Given the description of an element on the screen output the (x, y) to click on. 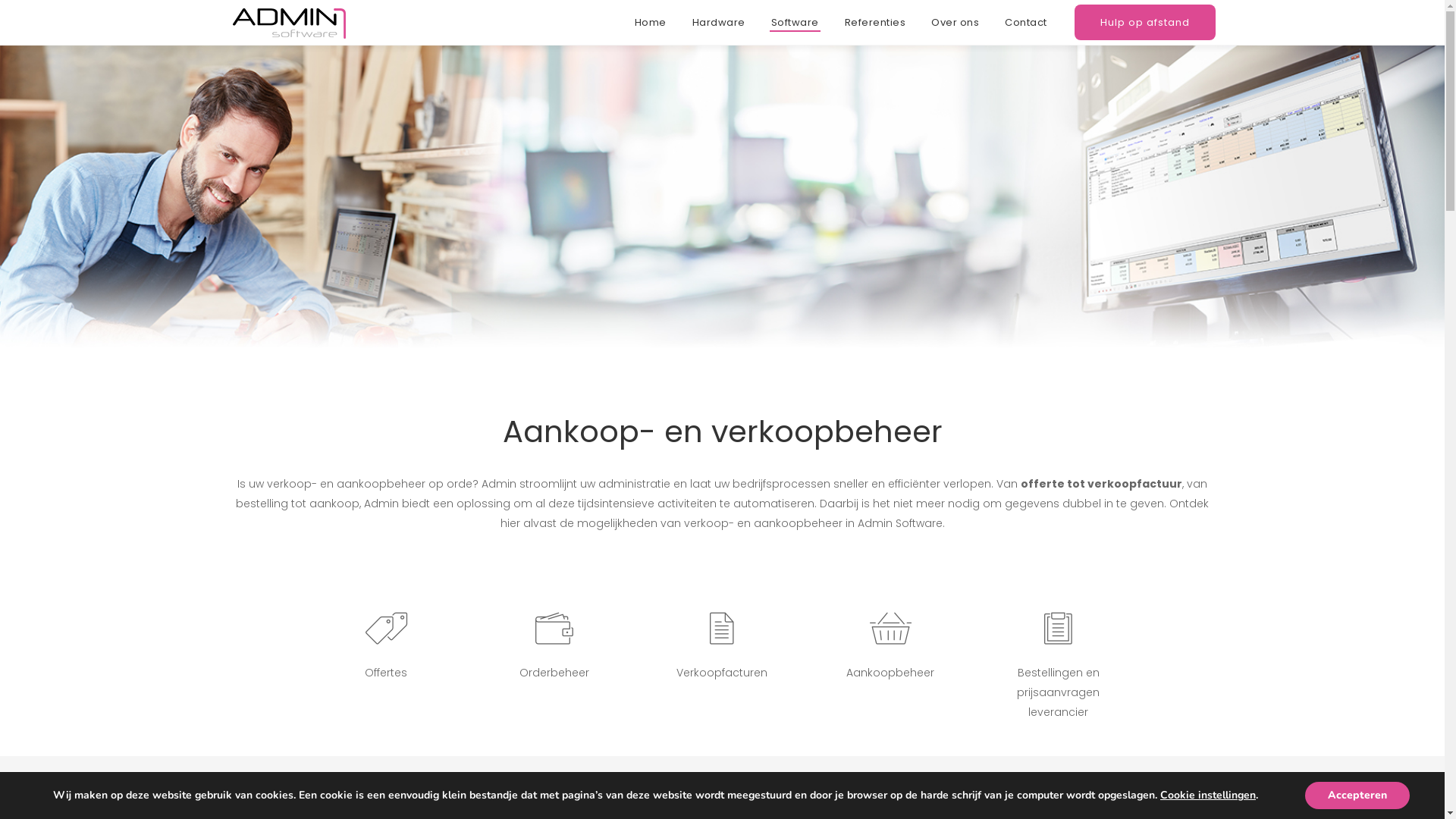
Hulp op afstand Element type: text (1143, 22)
Hardware Element type: text (718, 22)
Over ons Element type: text (954, 22)
Home Element type: text (650, 22)
Accepteren Element type: text (1357, 795)
Software Element type: text (794, 22)
Referenties Element type: text (874, 22)
Contact Element type: text (1031, 22)
